Given the description of an element on the screen output the (x, y) to click on. 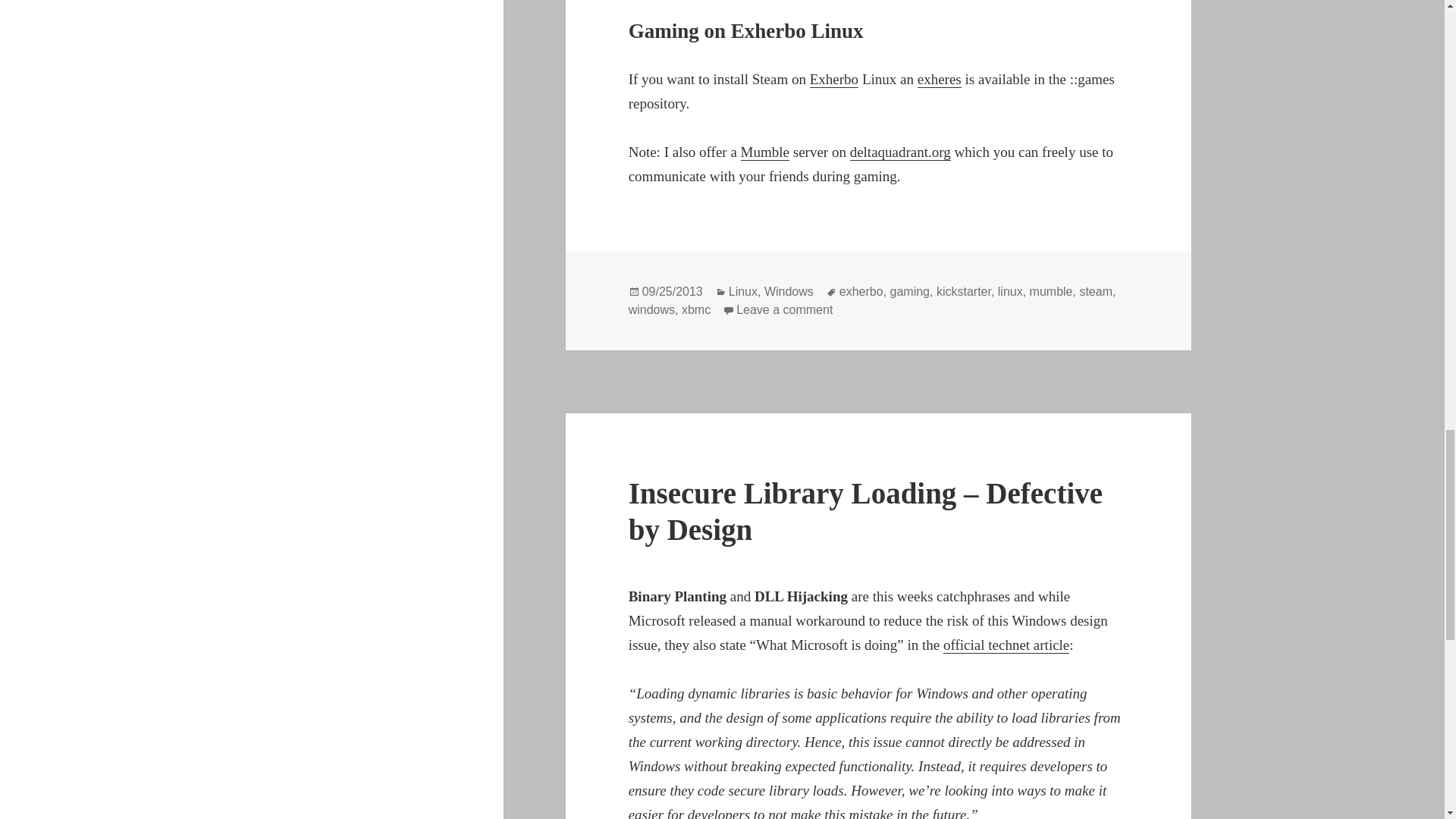
Exherbo Steam Exheres (938, 79)
Exherbo Linux (834, 79)
Mumble (765, 152)
